Given the description of an element on the screen output the (x, y) to click on. 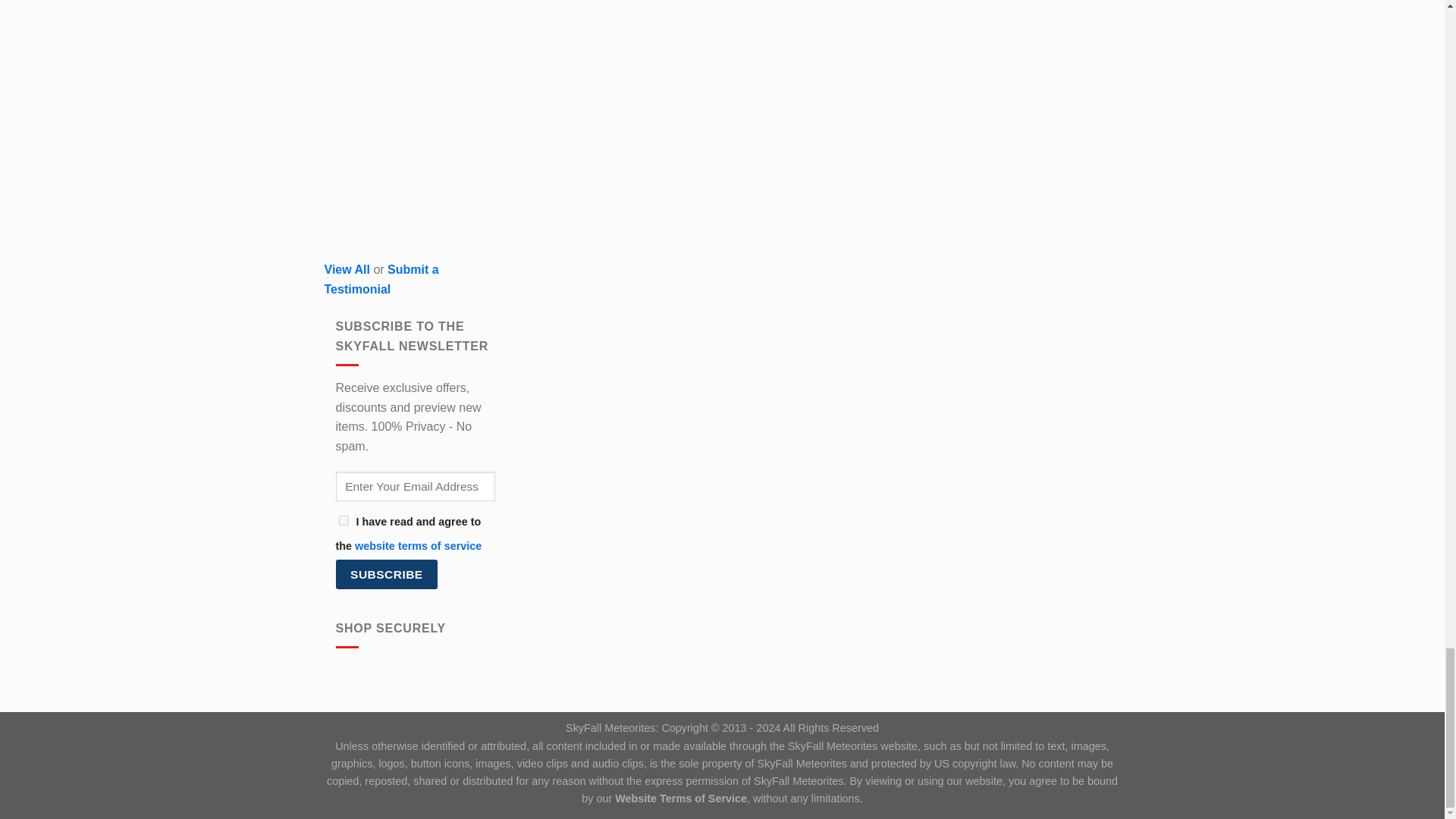
1 (342, 520)
Subscribe (386, 573)
